Given the description of an element on the screen output the (x, y) to click on. 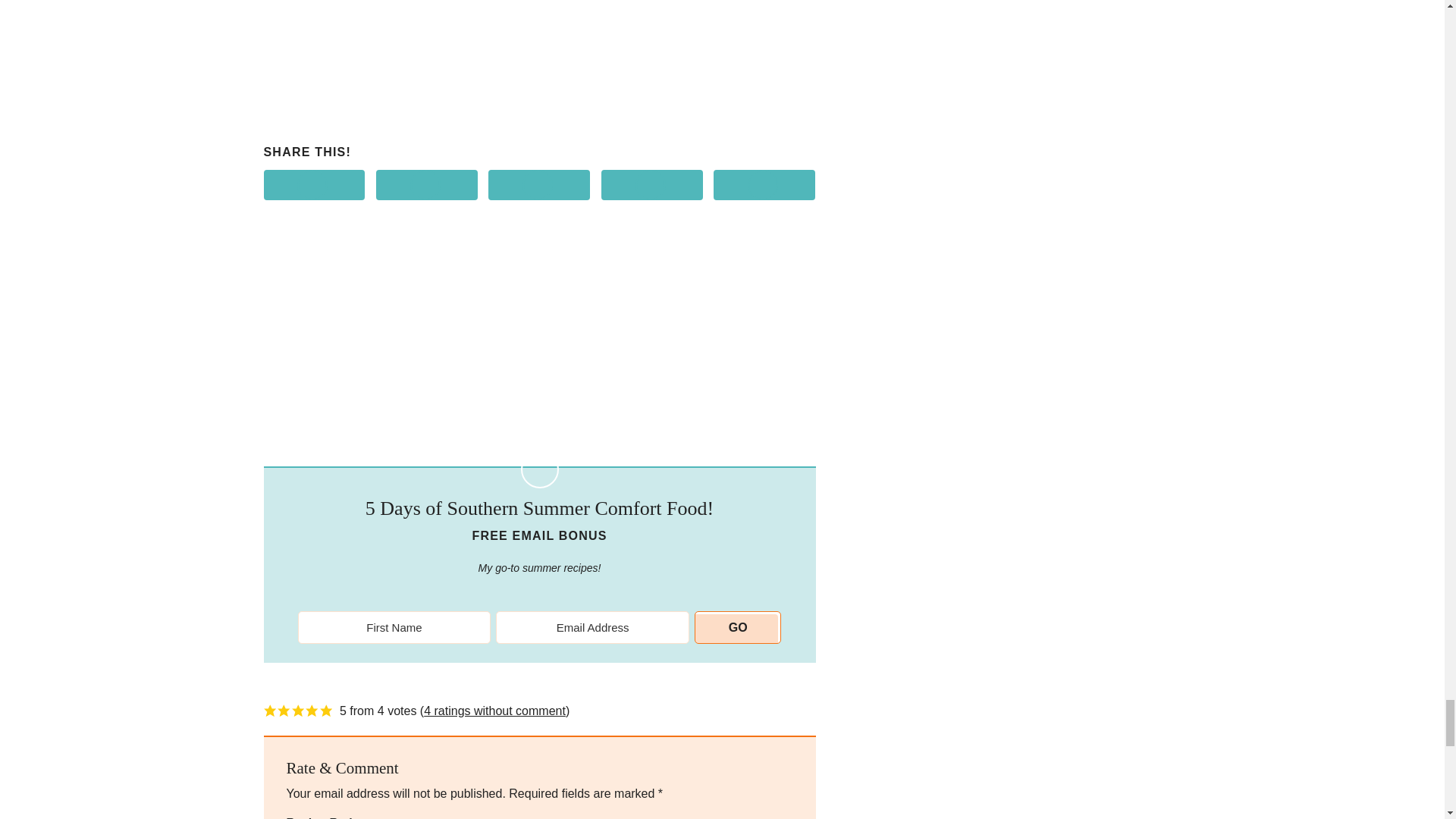
Share on Flipboard (538, 184)
Share on Facebook (314, 184)
Save to Pinterest (426, 184)
Send over email (652, 184)
Print this webpage (764, 184)
